Given the description of an element on the screen output the (x, y) to click on. 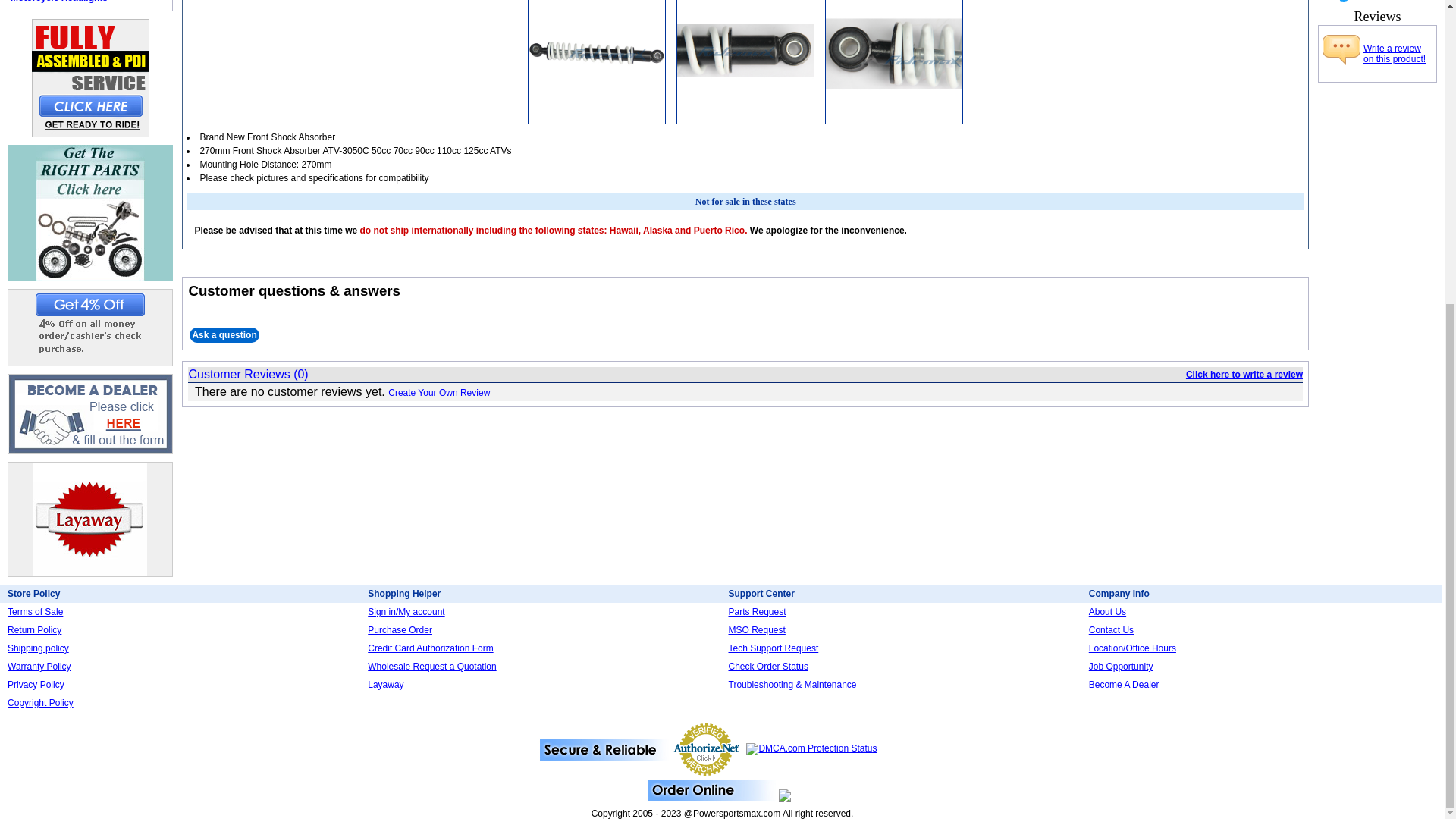
YAMAHA PW50 Chain Protect Cover (893, 62)
 fully assembled and pdi  (90, 77)
YAMAHA PW50 Chain Protect Cover (596, 62)
YAMAHA PW50 Chain Protect Cover (745, 62)
DMCA.com Protection Status (810, 747)
 Write Review  (1340, 53)
